Given the description of an element on the screen output the (x, y) to click on. 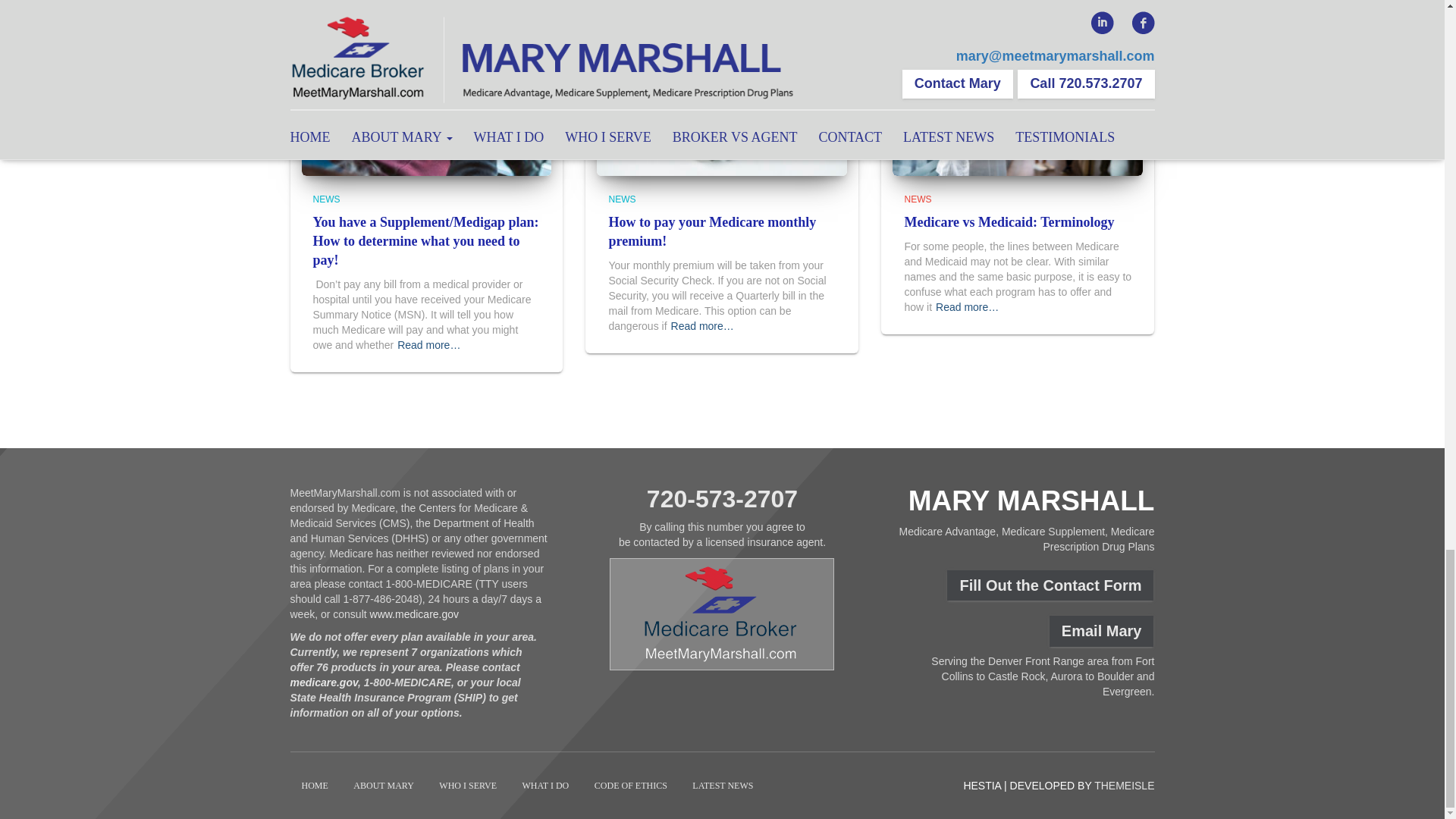
NEWS (326, 199)
